Given the description of an element on the screen output the (x, y) to click on. 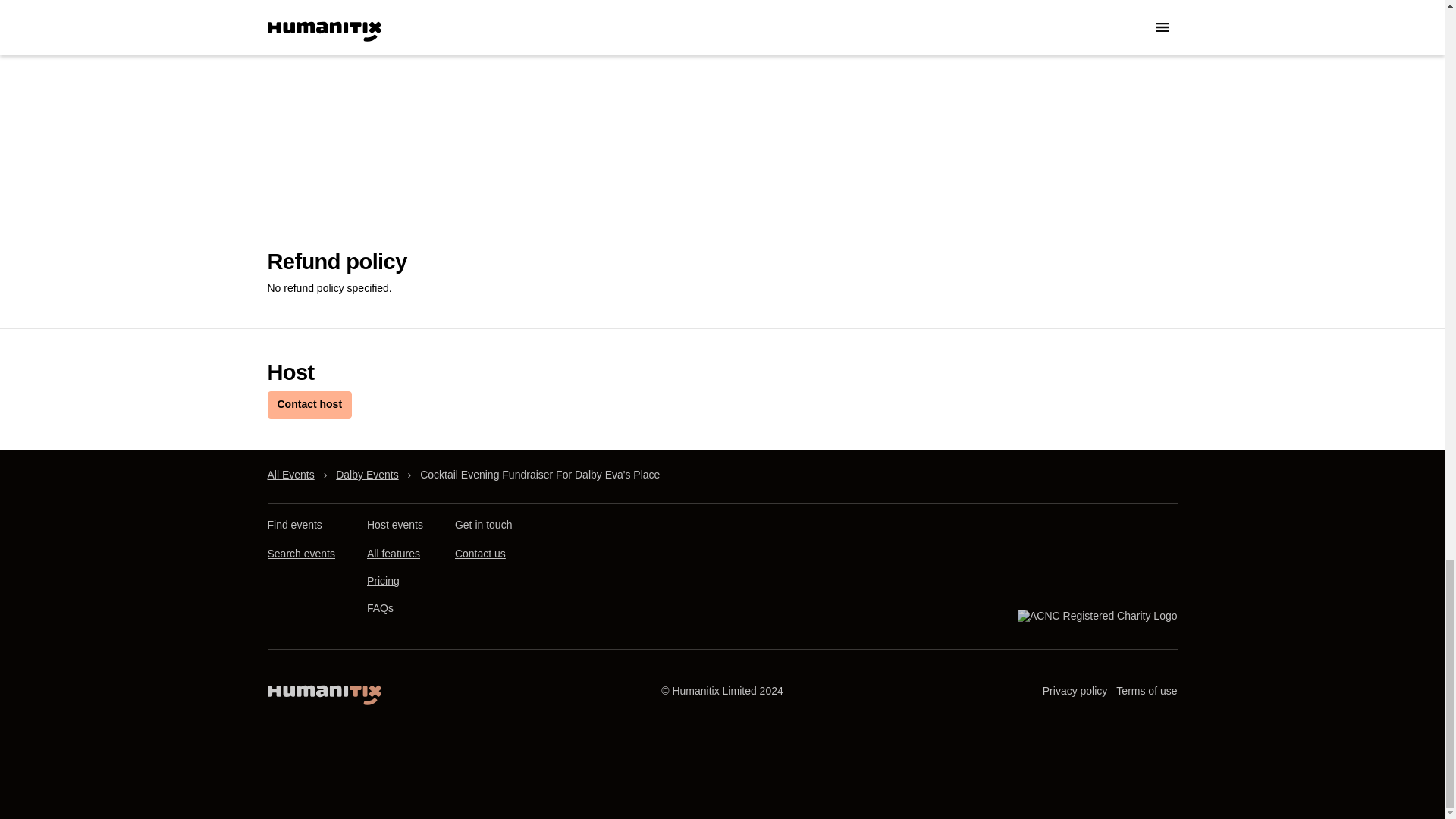
Terms of use (1146, 690)
Contact us (479, 553)
Search events (300, 553)
All Events (290, 474)
Cocktail Evening Fundraiser For Dalby Eva'S Place (539, 474)
Contact host (309, 404)
FAQs (379, 607)
Privacy policy (1075, 690)
Dalby Events (366, 474)
Pricing (382, 580)
